Given the description of an element on the screen output the (x, y) to click on. 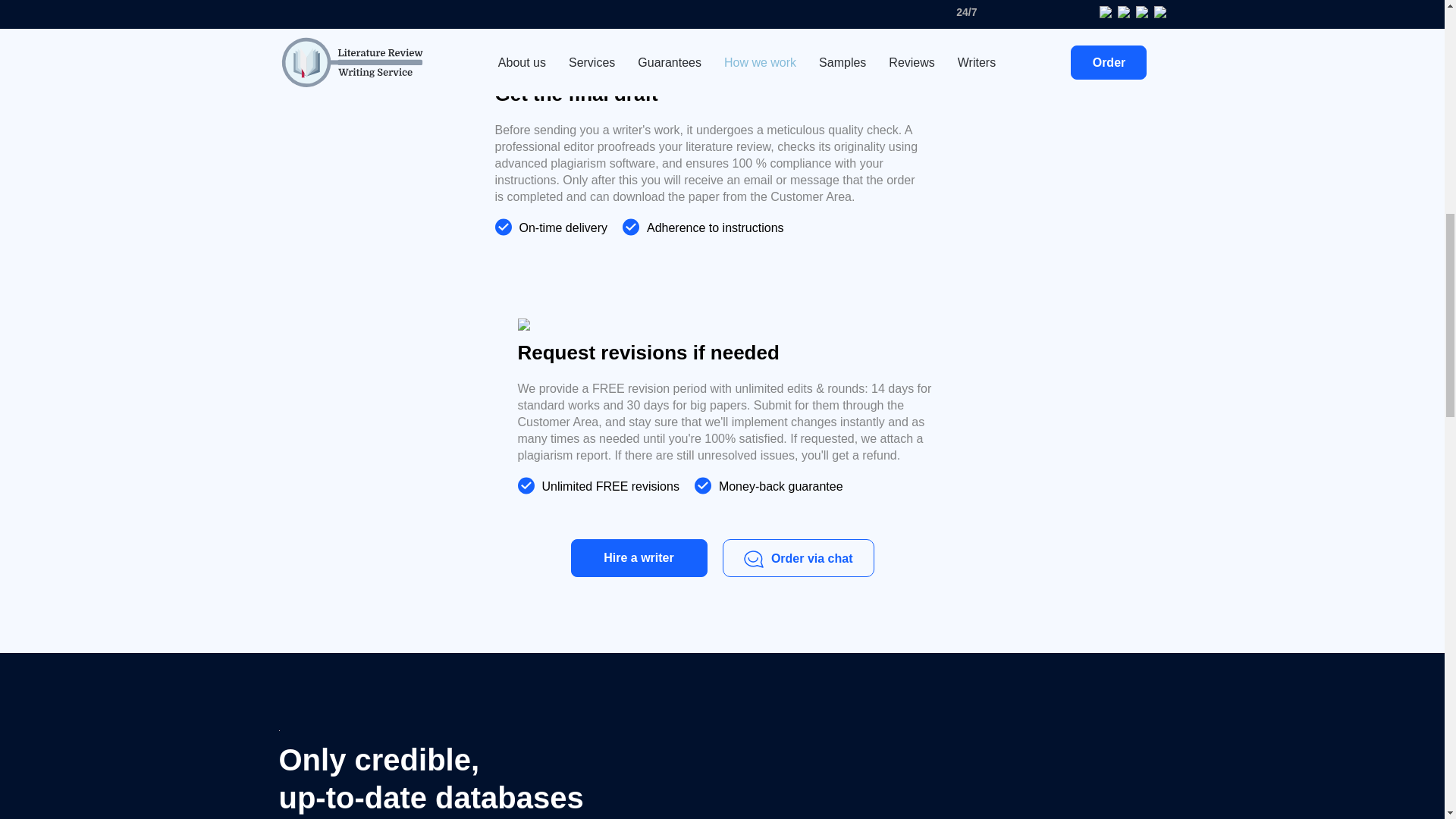
Hire a writer (638, 557)
Order via chat (797, 557)
